Given the description of an element on the screen output the (x, y) to click on. 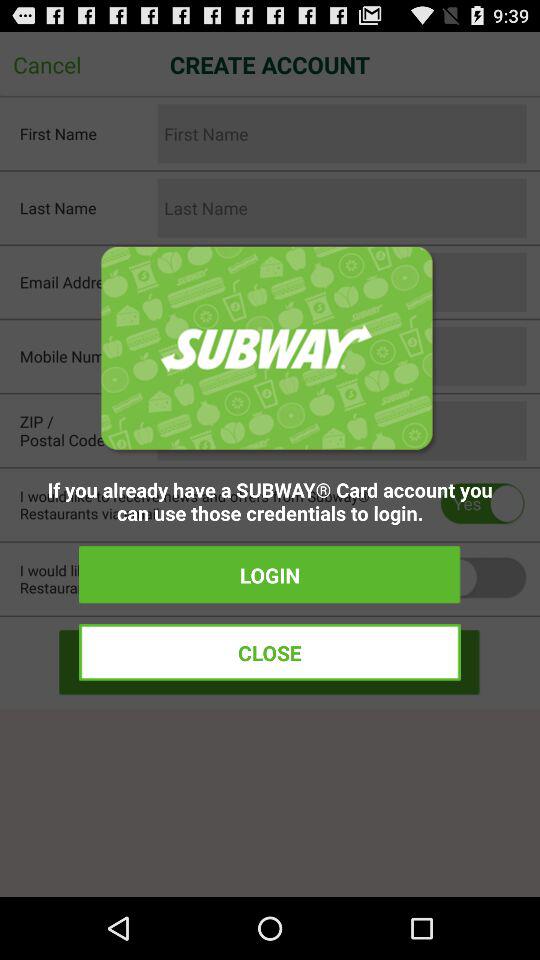
turn off icon below login icon (269, 652)
